Given the description of an element on the screen output the (x, y) to click on. 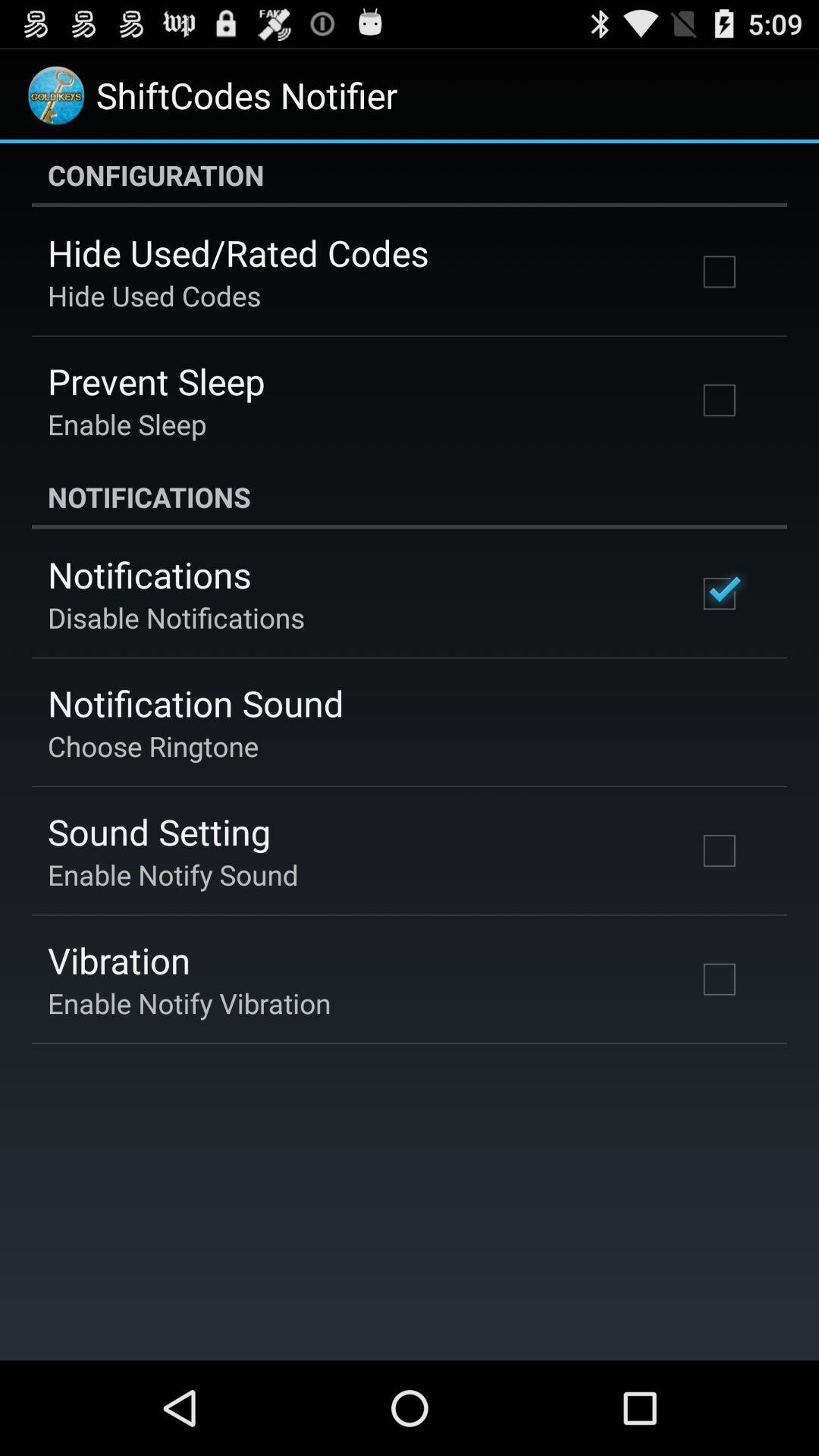
select the item above the choose ringtone app (195, 703)
